Given the description of an element on the screen output the (x, y) to click on. 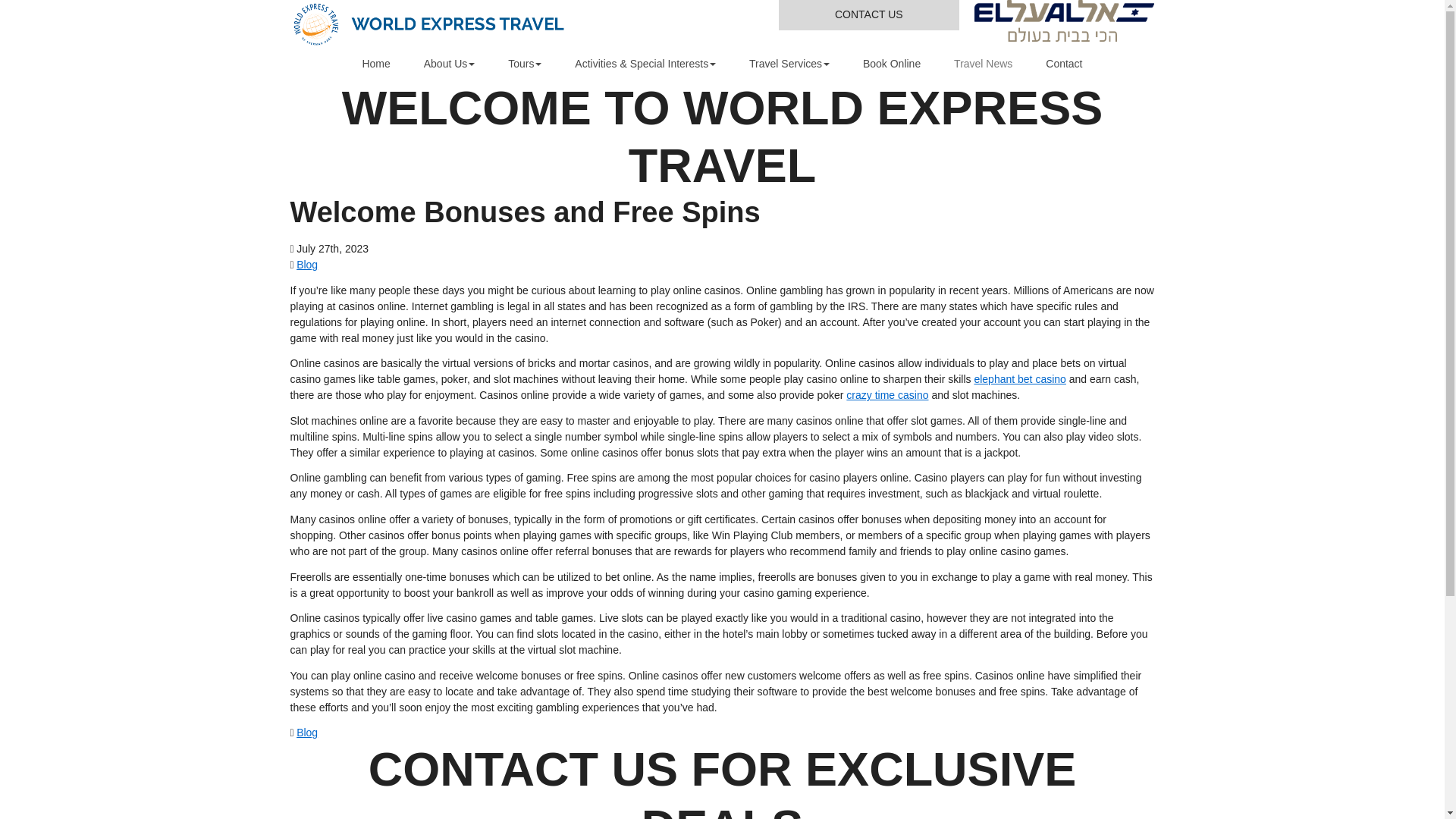
Travel News (983, 63)
Travel Services (788, 63)
Date Published (328, 248)
Tours (524, 63)
Book Online (891, 63)
About Us (449, 63)
CONTACT US (868, 15)
Contact (1063, 63)
Home (375, 63)
